Given the description of an element on the screen output the (x, y) to click on. 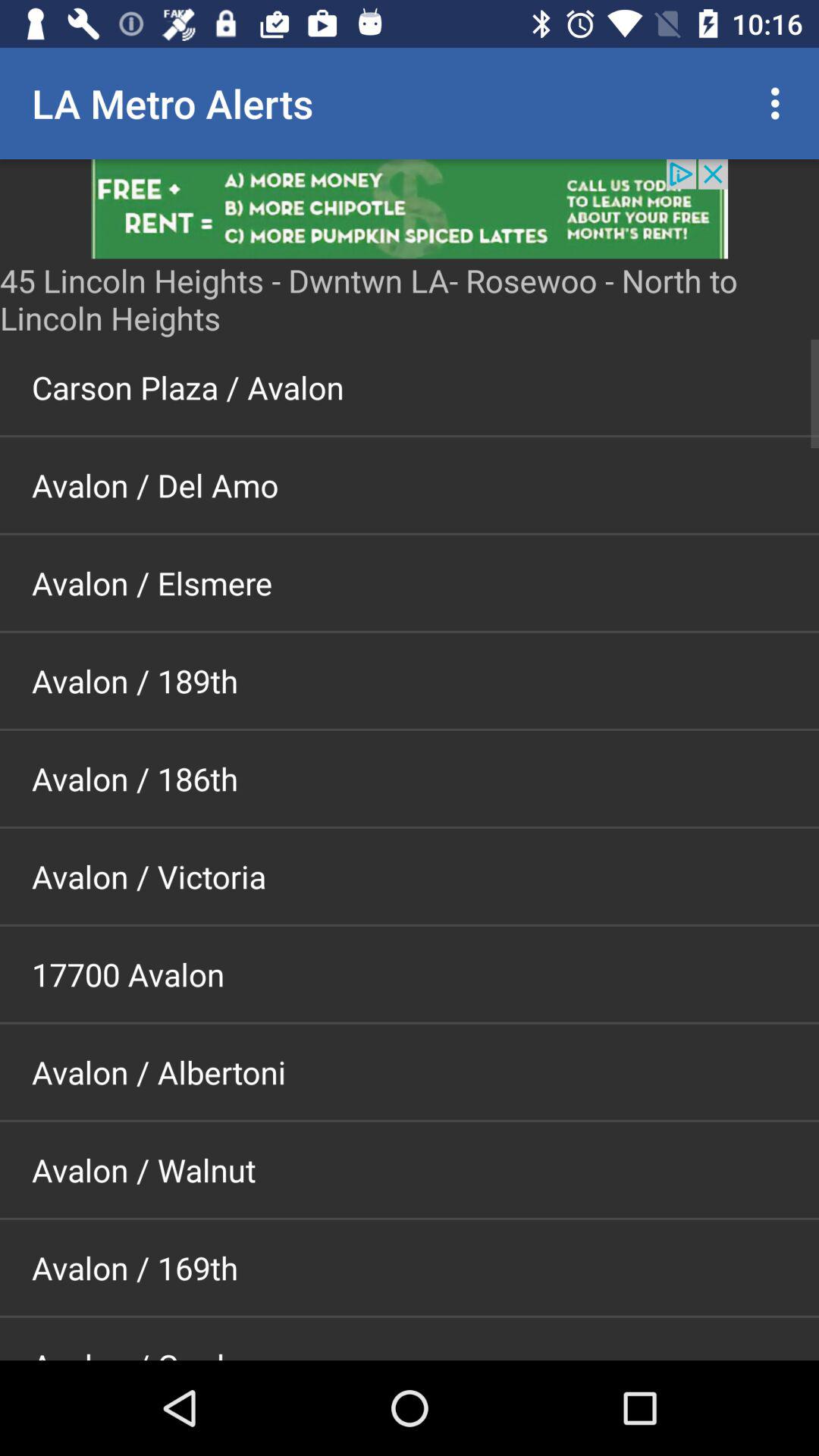
advertisement image (409, 208)
